Given the description of an element on the screen output the (x, y) to click on. 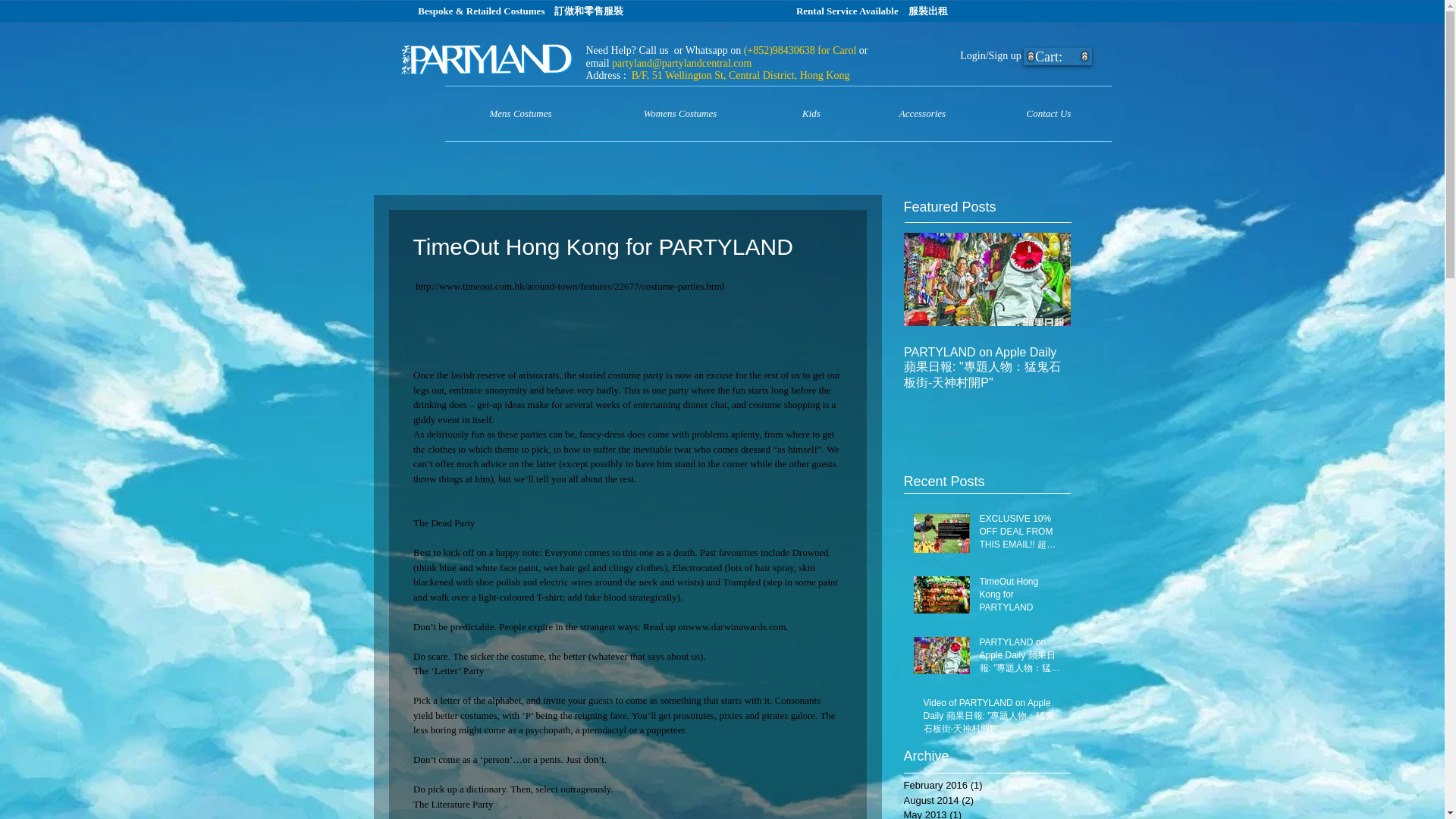
Contact Us (1047, 113)
Cart: (1058, 56)
Cart: (1058, 56)
TimeOut Hong Kong for PARTYLAND (1020, 597)
Womens Costumes (678, 113)
Kids (811, 113)
Mens Costumes (519, 113)
Accessories (922, 113)
